Given the description of an element on the screen output the (x, y) to click on. 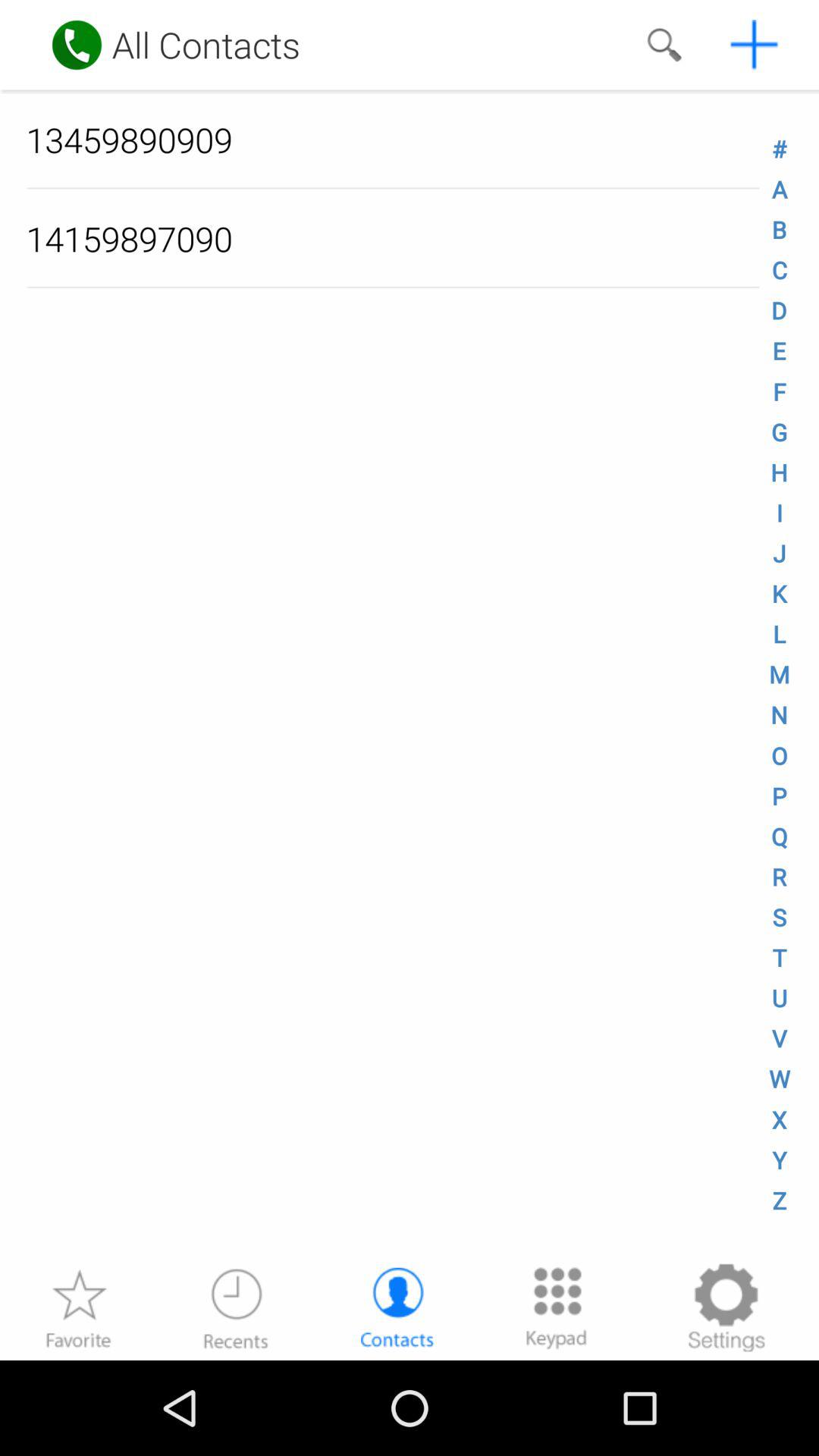
go to contacts (397, 1307)
